Given the description of an element on the screen output the (x, y) to click on. 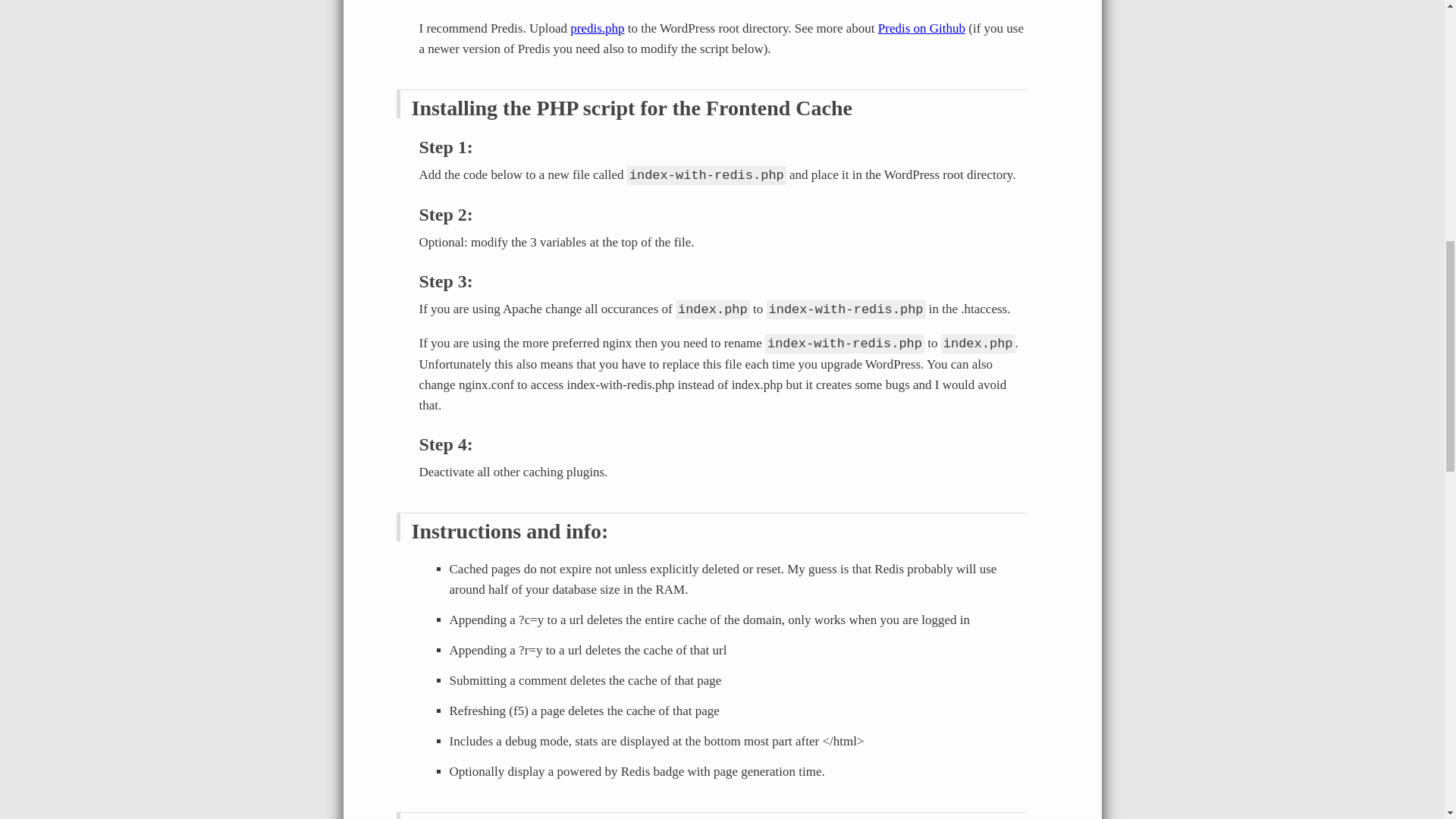
predis.php (597, 28)
